Given the description of an element on the screen output the (x, y) to click on. 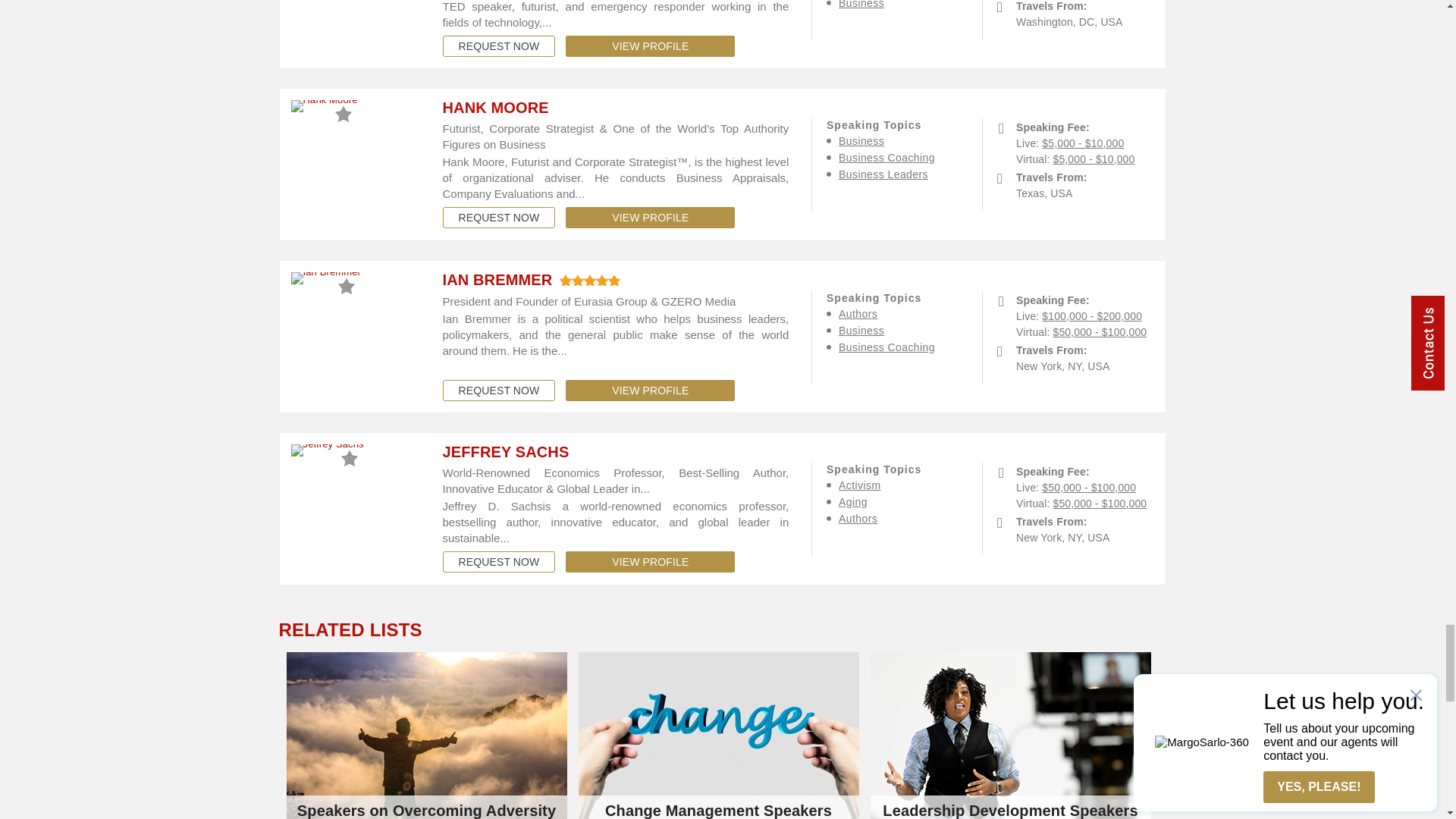
Top Leadership Development Speakers to Improve Your Impact (1010, 735)
